Given the description of an element on the screen output the (x, y) to click on. 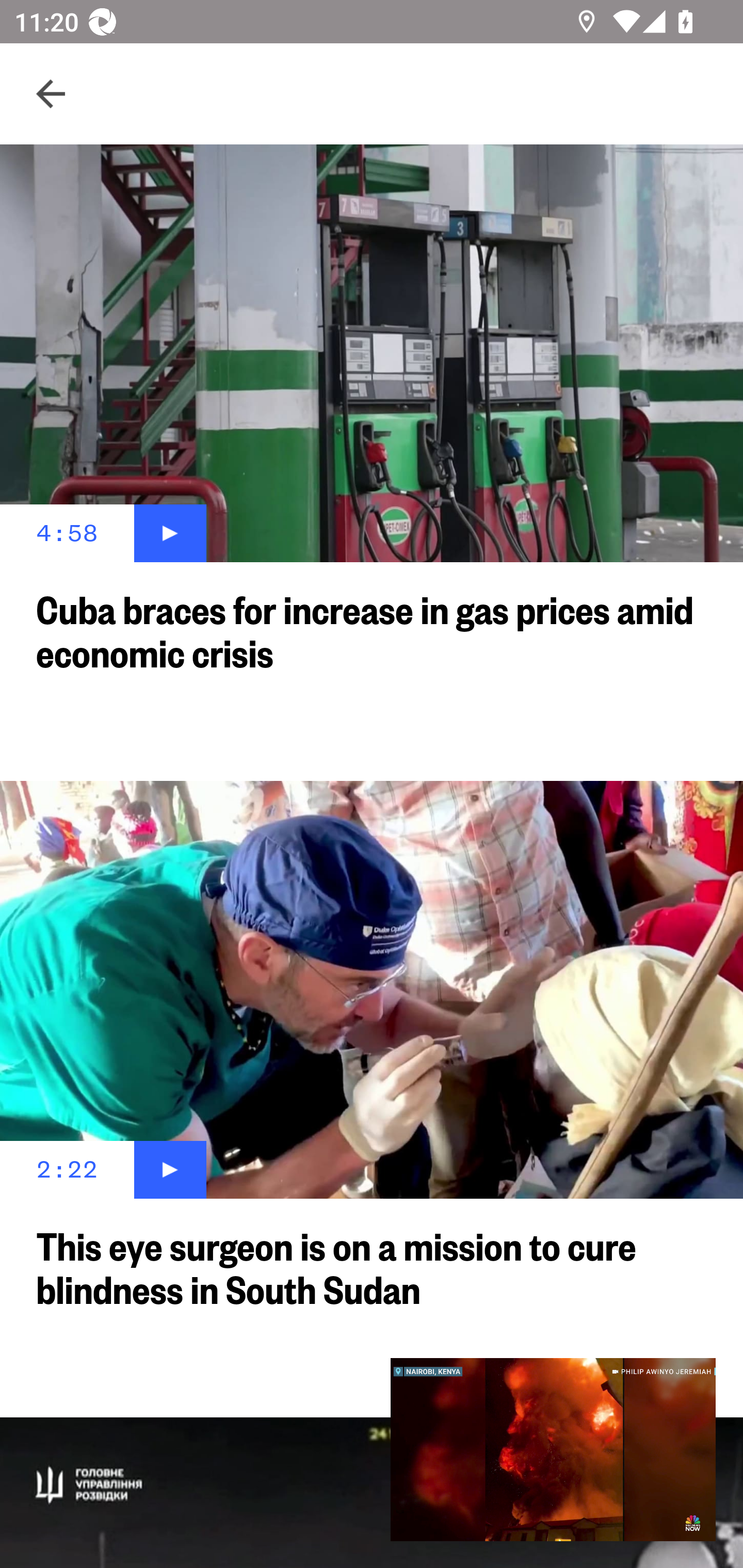
Navigate up (50, 93)
